Given the description of an element on the screen output the (x, y) to click on. 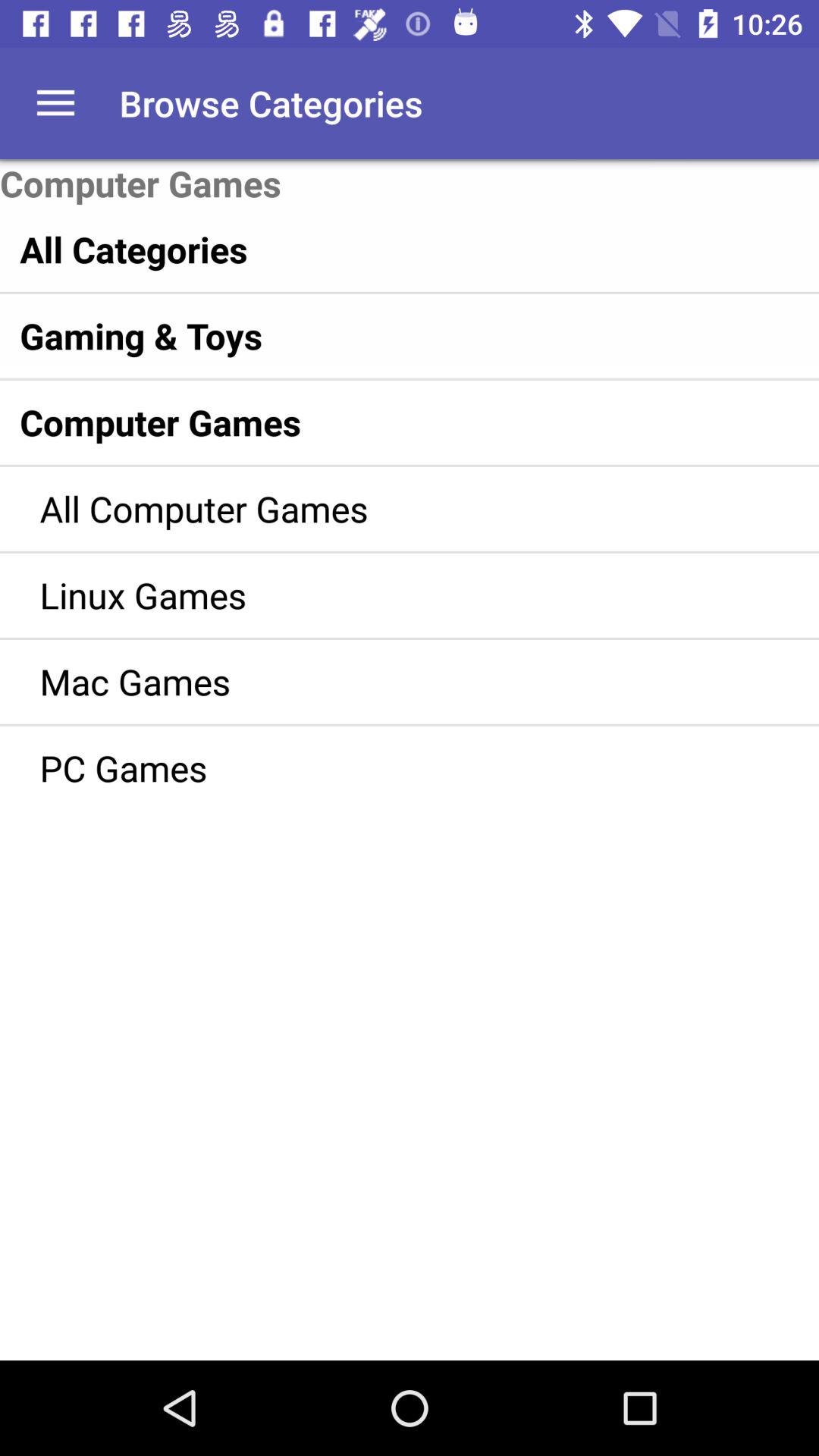
choose pc games item (387, 767)
